Given the description of an element on the screen output the (x, y) to click on. 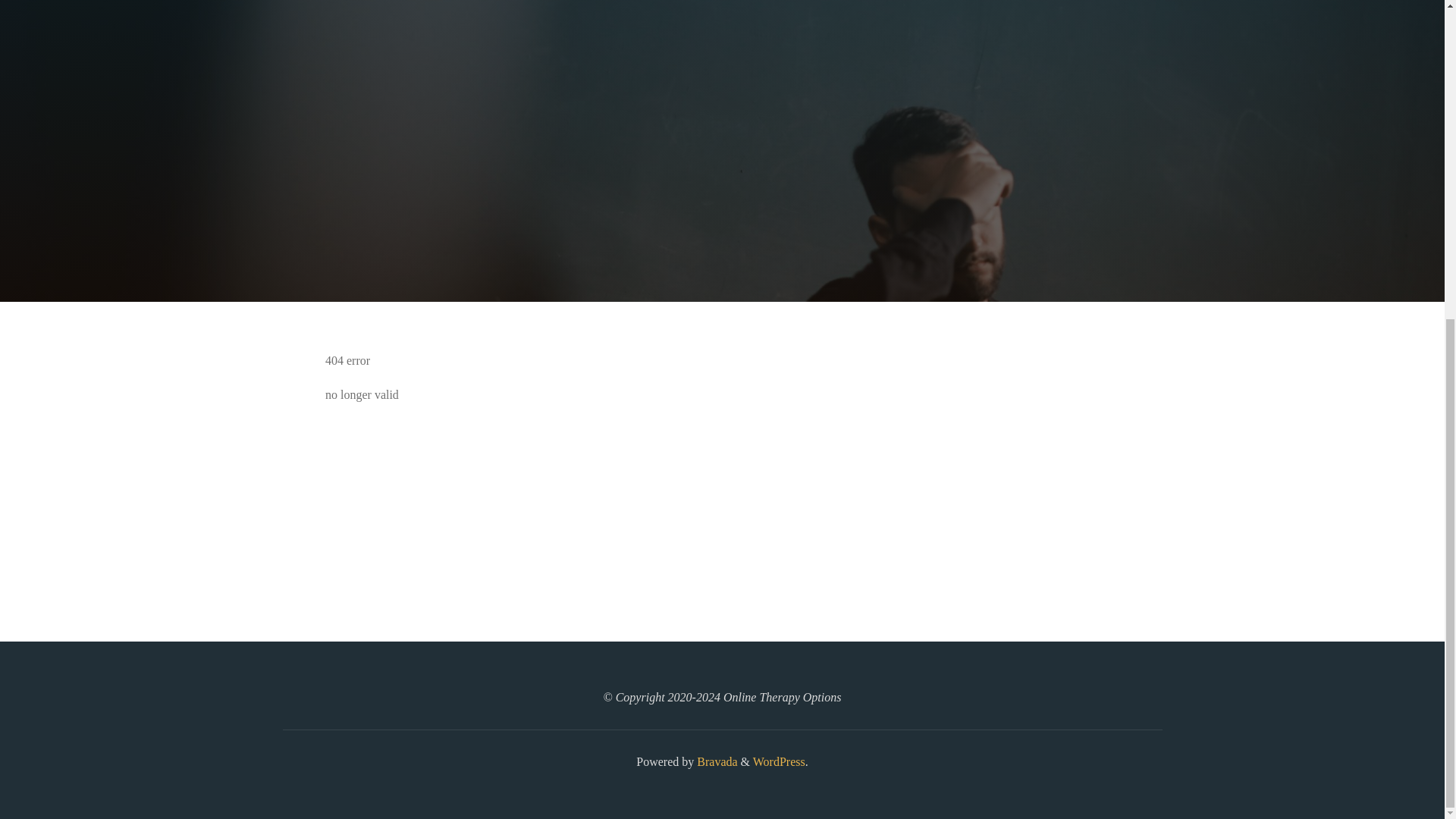
Read more (721, 207)
Bravada WordPress Theme by Cryout Creations (715, 761)
WordPress (778, 761)
Bravada (715, 761)
Semantic Personal Publishing Platform (778, 761)
